Given the description of an element on the screen output the (x, y) to click on. 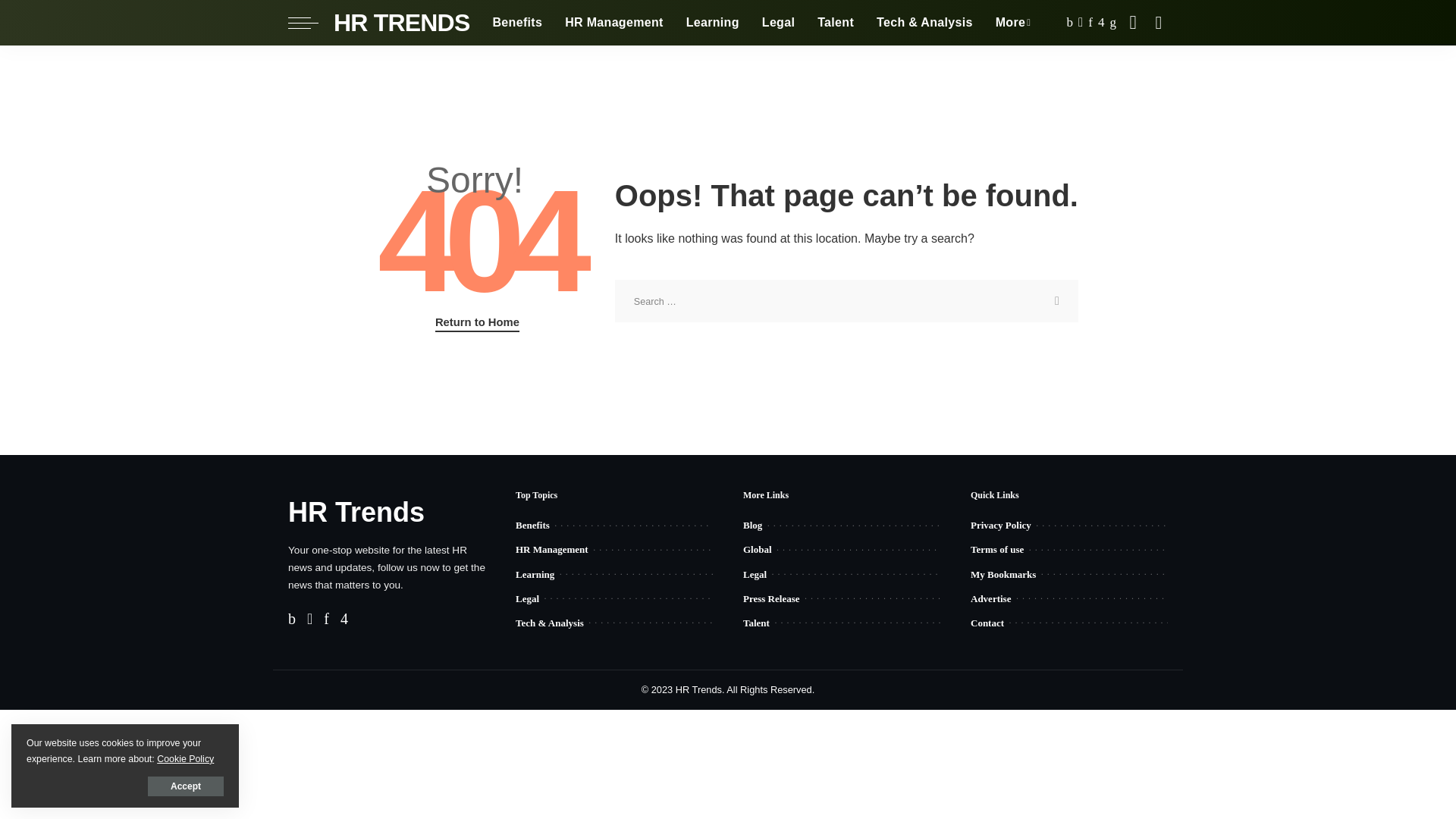
Talent (835, 22)
Legal (778, 22)
HR Management (614, 22)
More (1013, 22)
Return to Home (477, 322)
Search (1056, 301)
HR Trends (400, 22)
Search (1056, 301)
Benefits (516, 22)
HR Trends (356, 511)
